Given the description of an element on the screen output the (x, y) to click on. 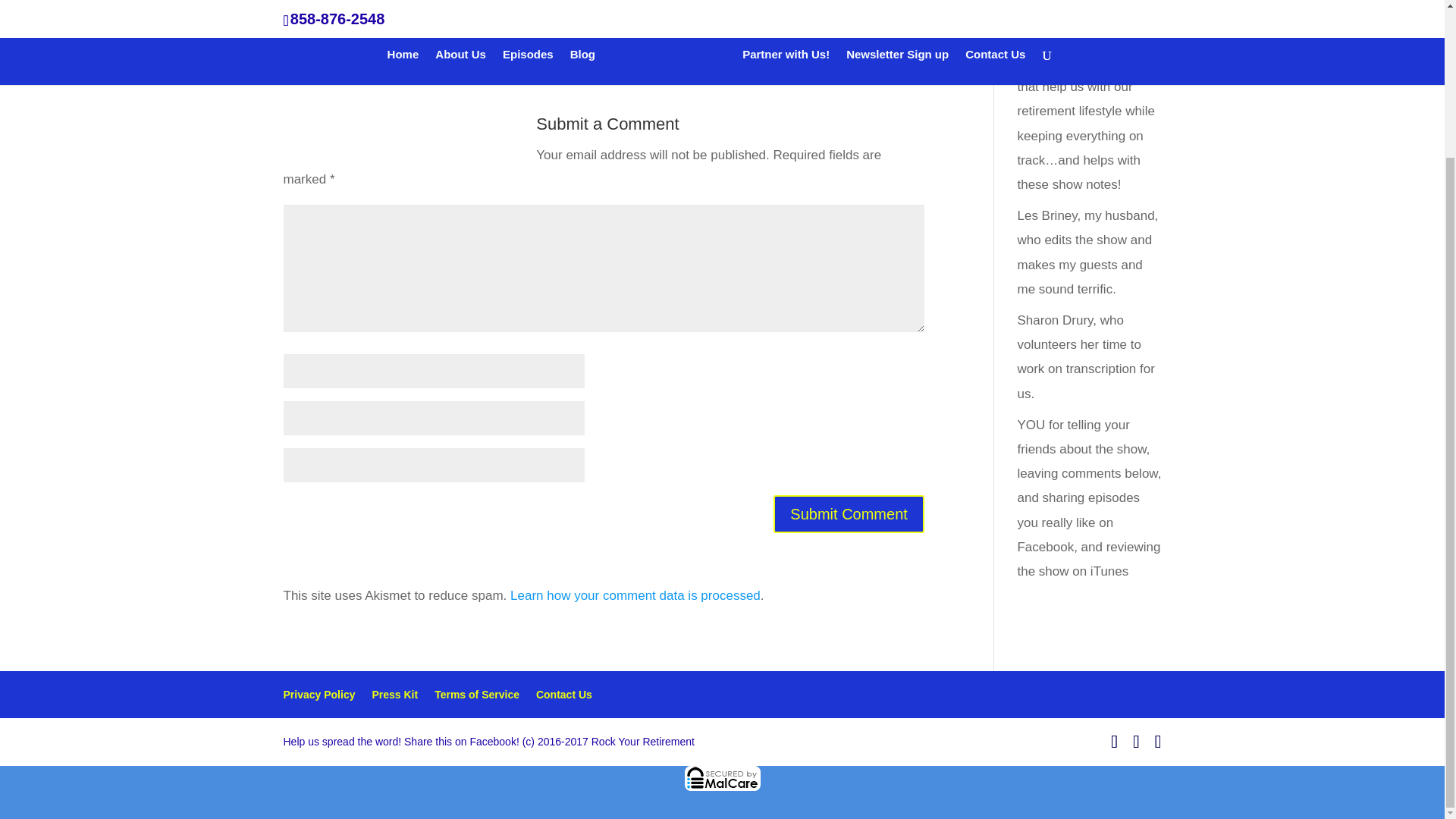
Press Kit (394, 694)
Submit Comment (848, 514)
Learn how your comment data is processed (635, 595)
reviewing the show on iTunes (1088, 558)
Privacy Policy (319, 694)
Terms of Service (476, 694)
Submit Comment (848, 514)
Contact Us (563, 694)
